Given the description of an element on the screen output the (x, y) to click on. 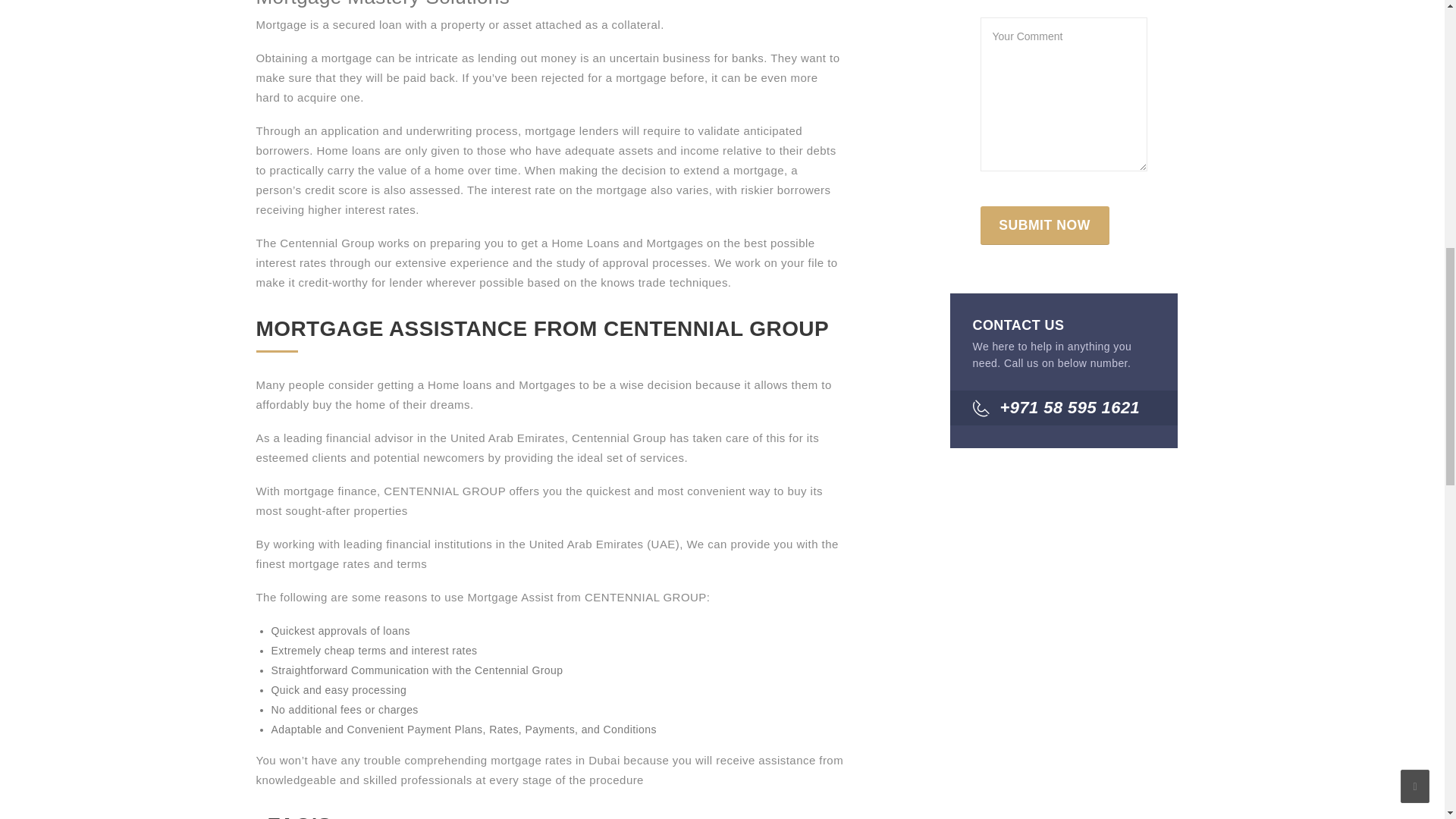
submit now (1043, 225)
